Given the description of an element on the screen output the (x, y) to click on. 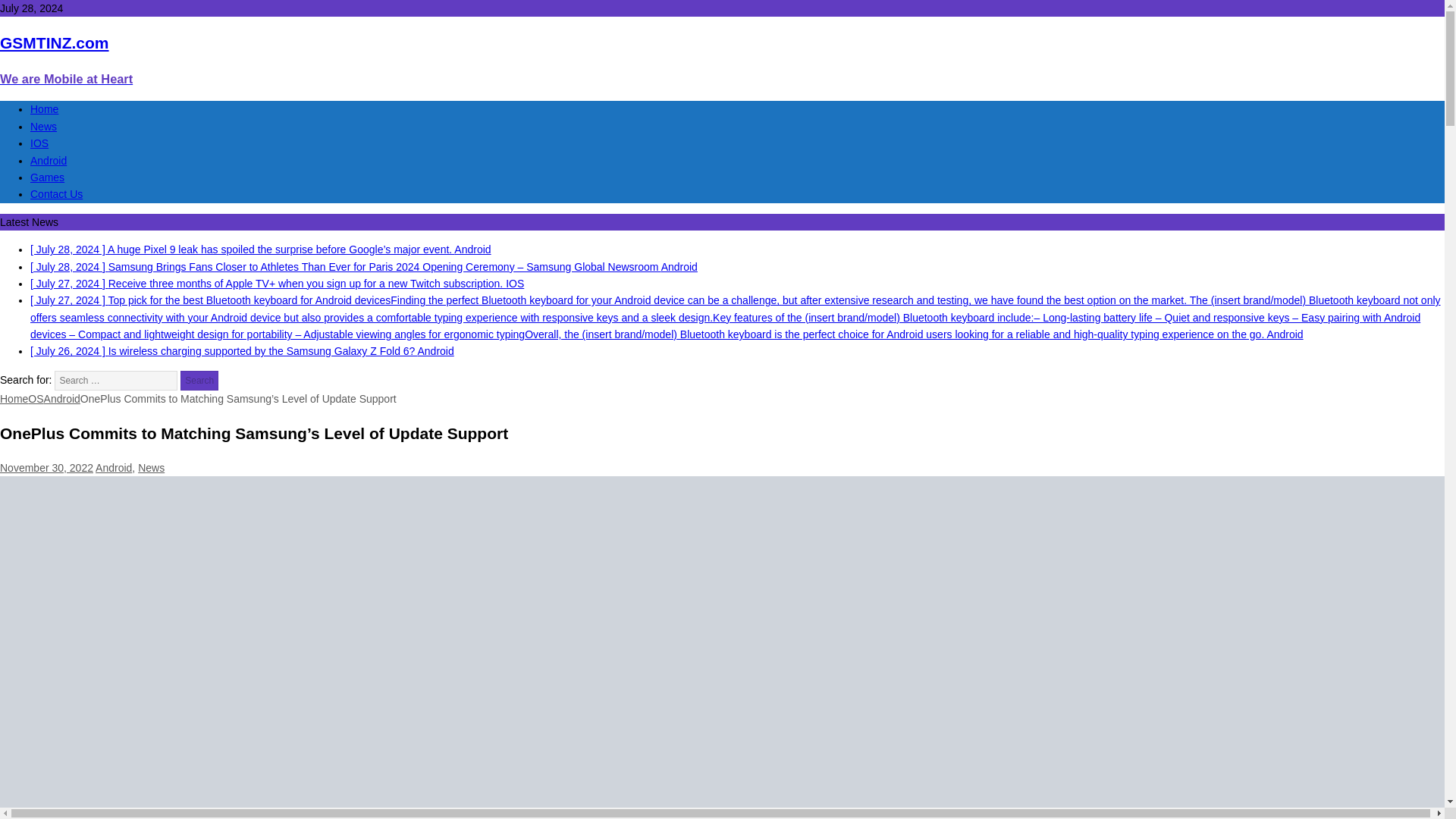
Android (61, 398)
News (43, 126)
November 30, 2022 (46, 467)
Home (13, 398)
IOS (39, 143)
Home (13, 398)
Search (199, 380)
Contact Us (56, 193)
Android (722, 59)
GSMTINZ.com (48, 160)
Search (722, 59)
Android (199, 380)
Games (114, 467)
OS (47, 177)
